Given the description of an element on the screen output the (x, y) to click on. 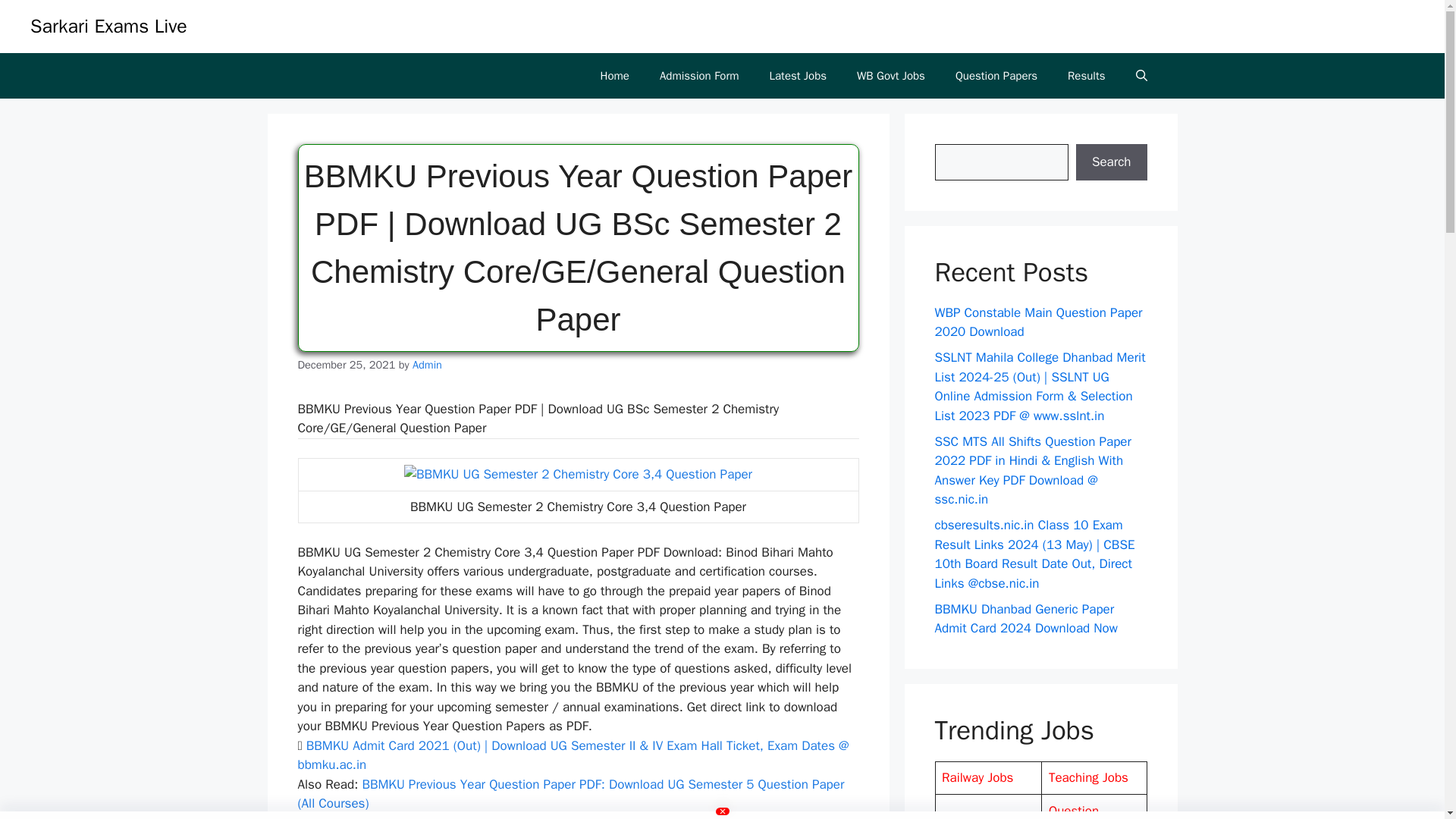
Admin (427, 364)
Latest Jobs (798, 75)
Search (1111, 162)
View all posts by Admin (427, 364)
Sarkari Exams Live (108, 25)
Question Papers (996, 75)
WBP Constable Main Question Paper 2020 Download (1037, 322)
BBMKU UG Semester 2 Chemistry Core 3,4 Question Paper (578, 474)
WB Govt Jobs (890, 75)
Admission Form (699, 75)
Results (1085, 75)
Home (615, 75)
